Given the description of an element on the screen output the (x, y) to click on. 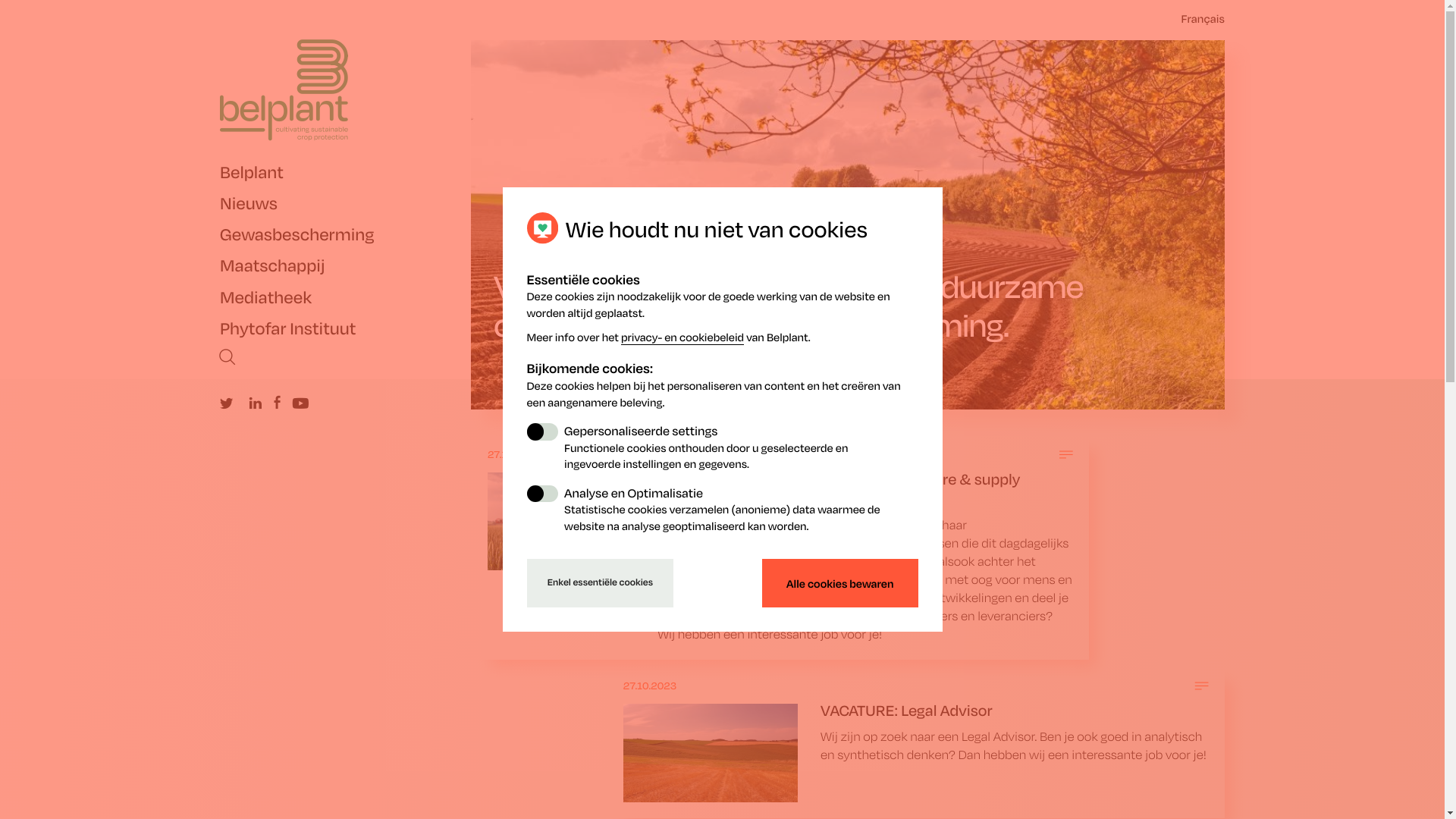
Alle cookies bewaren Element type: text (839, 582)
Mediatheek Element type: text (344, 297)
privacy- en cookiebeleid Element type: text (682, 337)
Belplant Element type: text (344, 172)
Gewasbescherming Element type: text (344, 234)
Maatschappij Element type: text (344, 265)
Phytofar Instituut Element type: text (344, 328)
Nieuws Element type: text (344, 203)
